Given the description of an element on the screen output the (x, y) to click on. 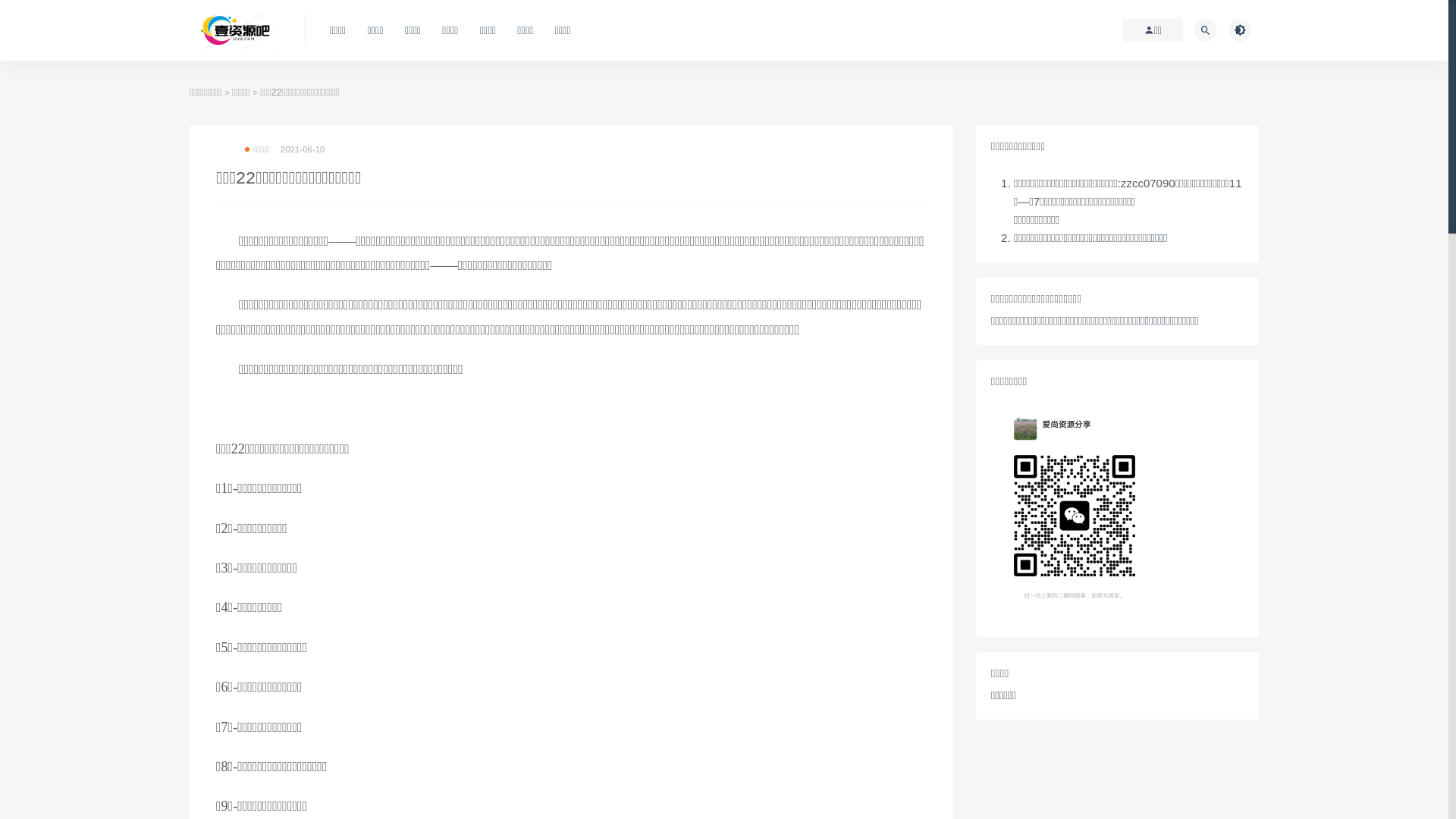
2021-06-10 Element type: text (302, 148)
